Given the description of an element on the screen output the (x, y) to click on. 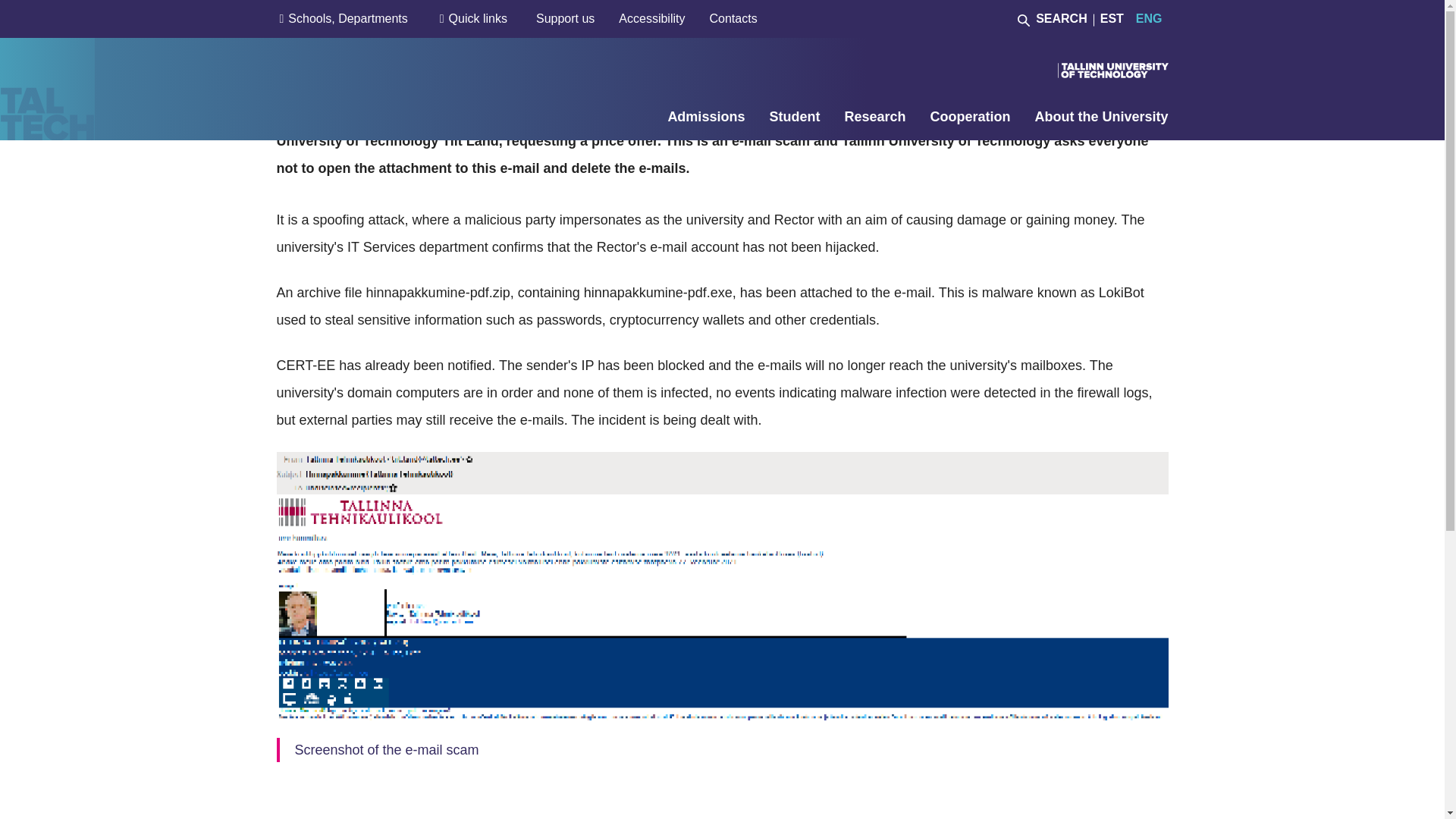
Contacts (733, 18)
Quick links (478, 18)
Cooperation (970, 116)
ENG (1145, 18)
EST (1111, 18)
About the University (1100, 116)
Schools, Departments (347, 18)
Accessibility (651, 18)
SEARCH (1053, 18)
Admissions (705, 116)
